Given the description of an element on the screen output the (x, y) to click on. 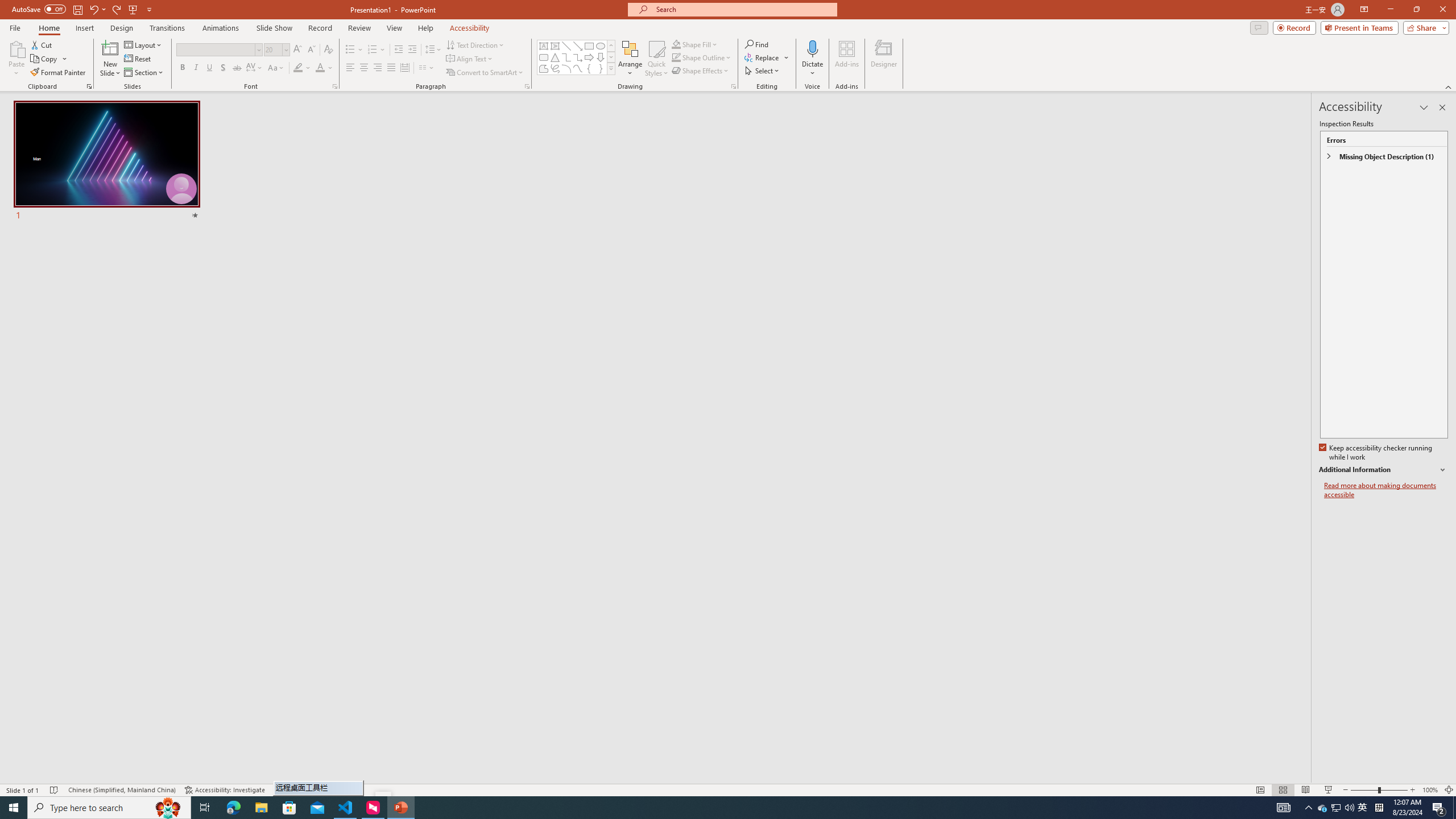
Zoom 100% (1430, 790)
